Given the description of an element on the screen output the (x, y) to click on. 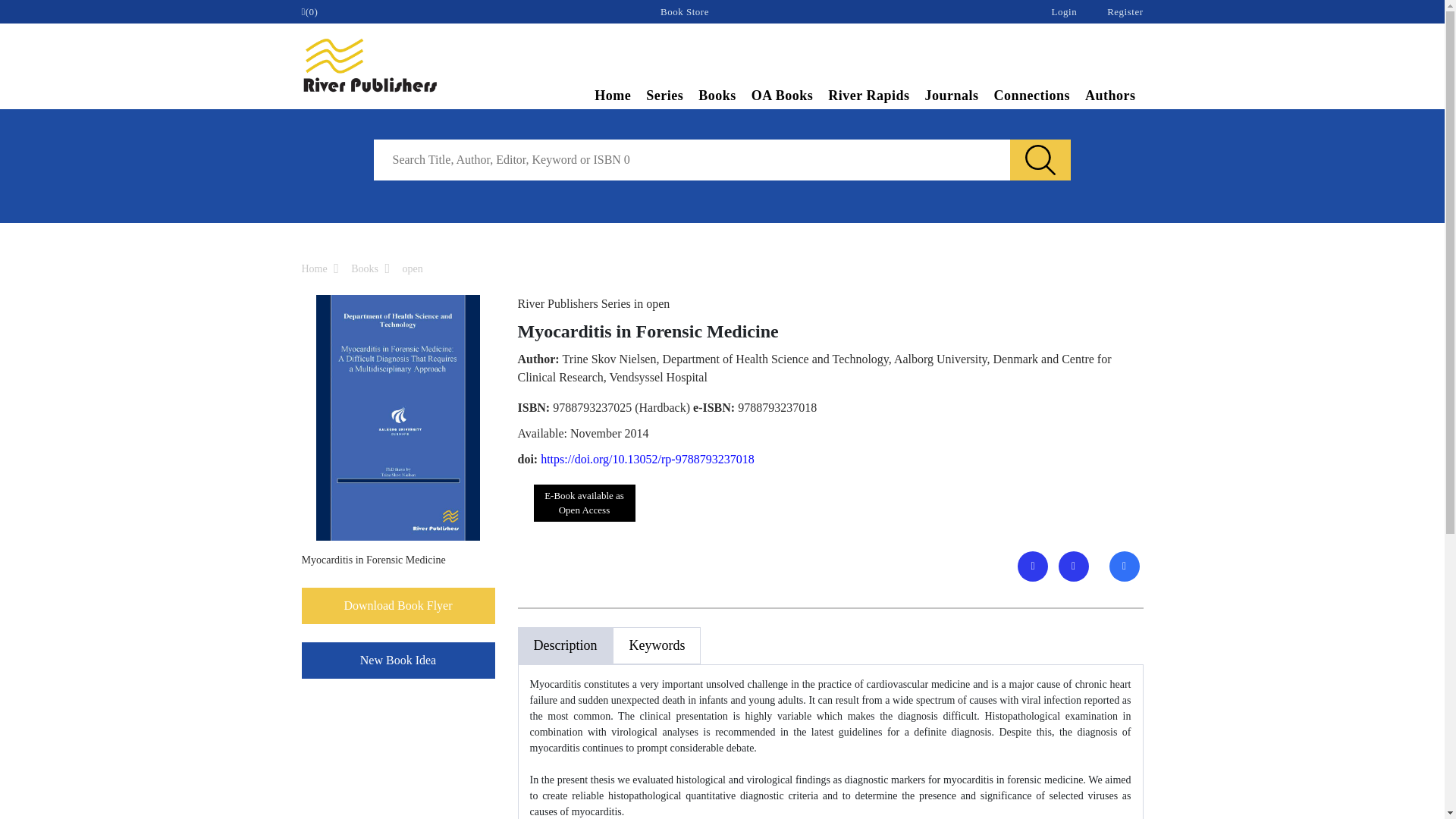
Login (1064, 11)
Register (1124, 11)
New Book Idea (398, 660)
OA Books (782, 96)
Books (364, 268)
Description (564, 645)
Download Book Flyer (398, 606)
Series (664, 96)
Home (612, 96)
E-Book available as Open Access (584, 502)
